Given the description of an element on the screen output the (x, y) to click on. 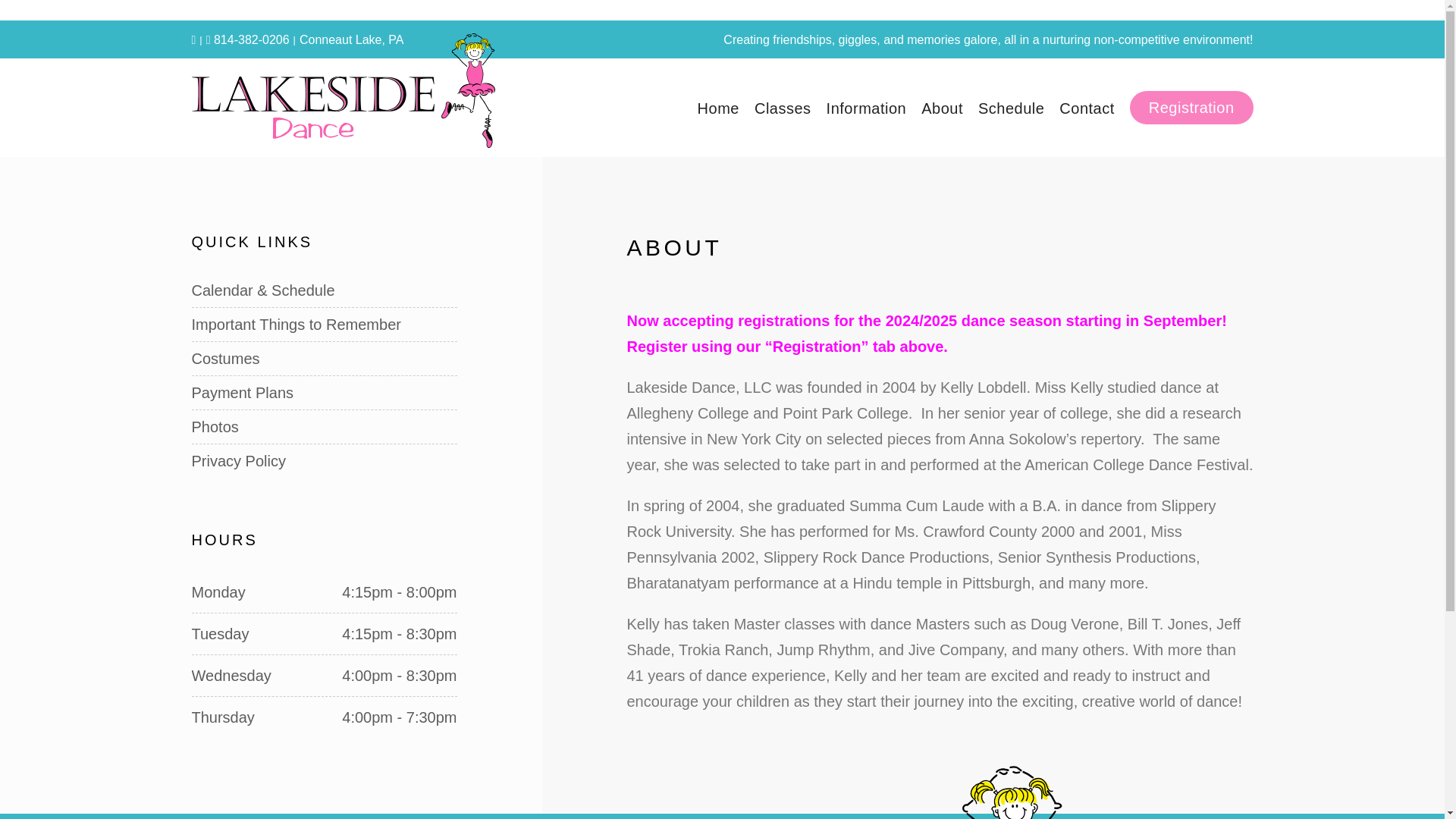
Lakeside Dance, LLC (342, 107)
Costumes (323, 358)
Schedule (1010, 108)
Payment Plans (323, 392)
Privacy Policy (323, 460)
Classes (782, 108)
Important Things to Remember (323, 324)
Information (867, 108)
About (941, 108)
814-382-0206 (247, 39)
